Given the description of an element on the screen output the (x, y) to click on. 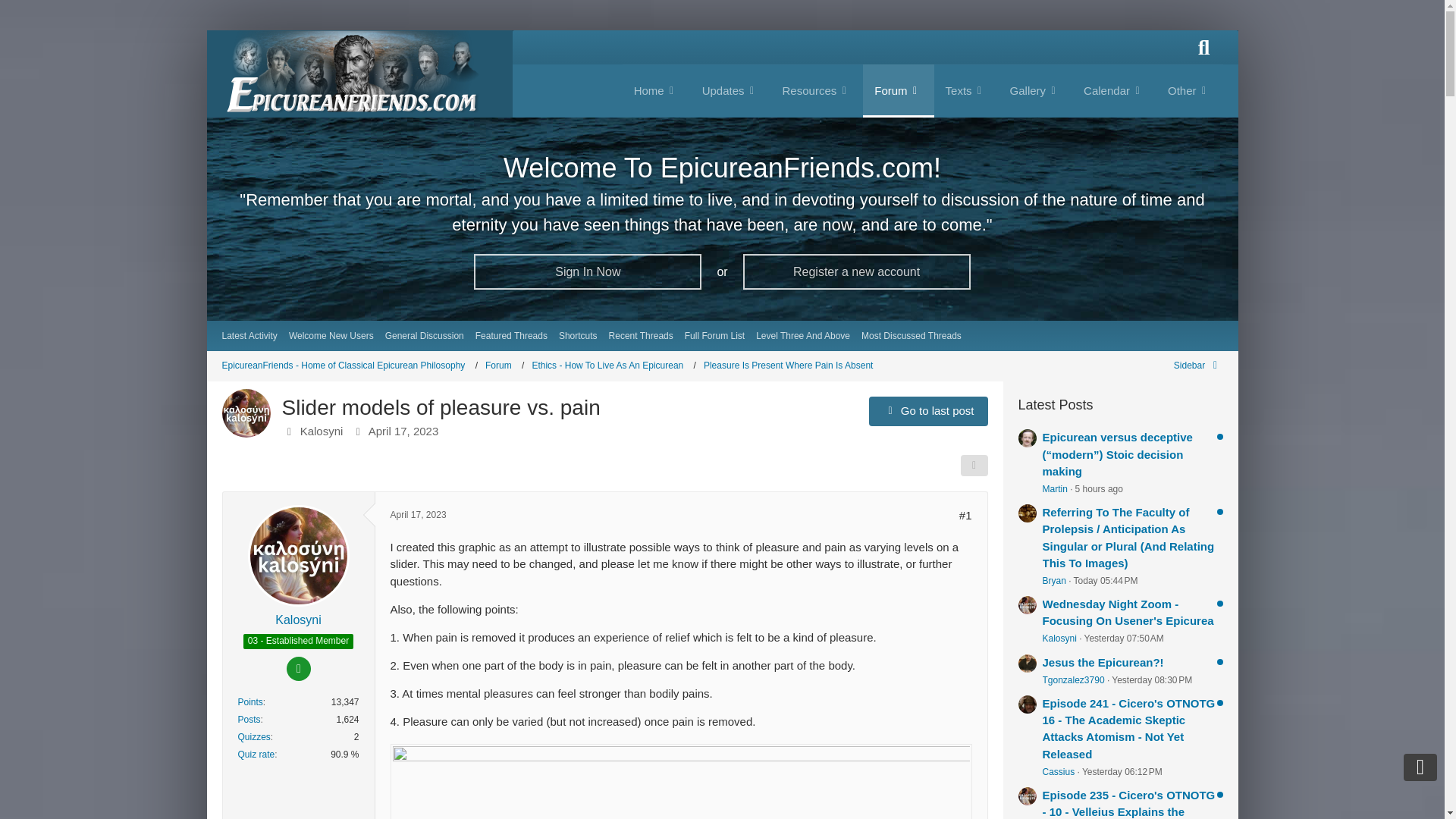
EpicureanFriends - Home of Classical Epicurean Philosophy (349, 366)
Pleasure Is Present Where Pain Is Absent (787, 366)
Forum (504, 366)
Ethics - How To Live As An Epicurean (613, 366)
Jump to last post (928, 410)
